Given the description of an element on the screen output the (x, y) to click on. 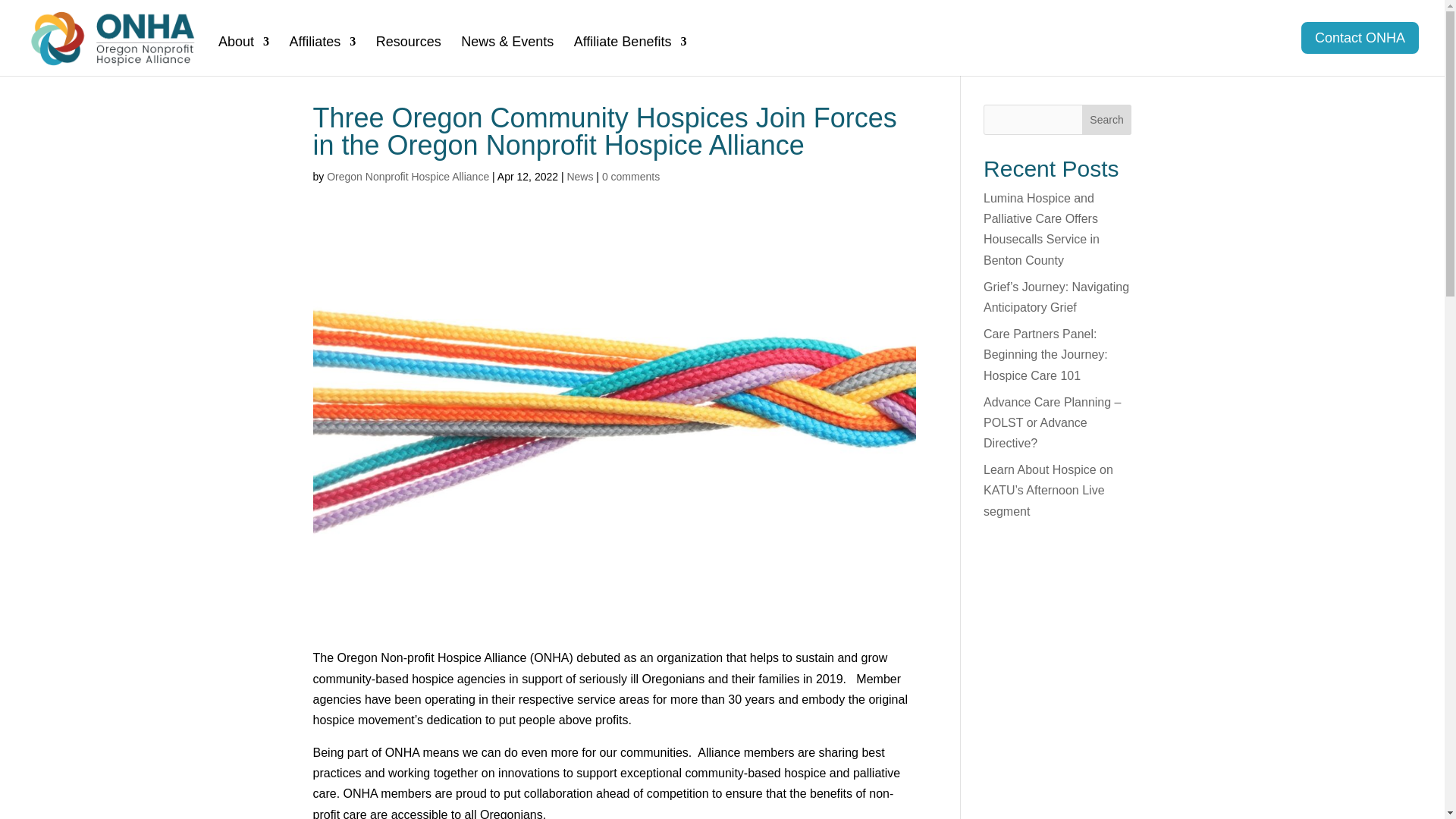
0 comments (630, 176)
Affiliate Benefits (630, 56)
Contact ONHA (1360, 37)
Oregon Nonprofit Hospice Alliance (407, 176)
Affiliates (322, 56)
Care Partners Panel: Beginning the Journey: Hospice Care 101 (1046, 354)
Posts by Oregon Nonprofit Hospice Alliance (407, 176)
News (579, 176)
About (243, 56)
